Given the description of an element on the screen output the (x, y) to click on. 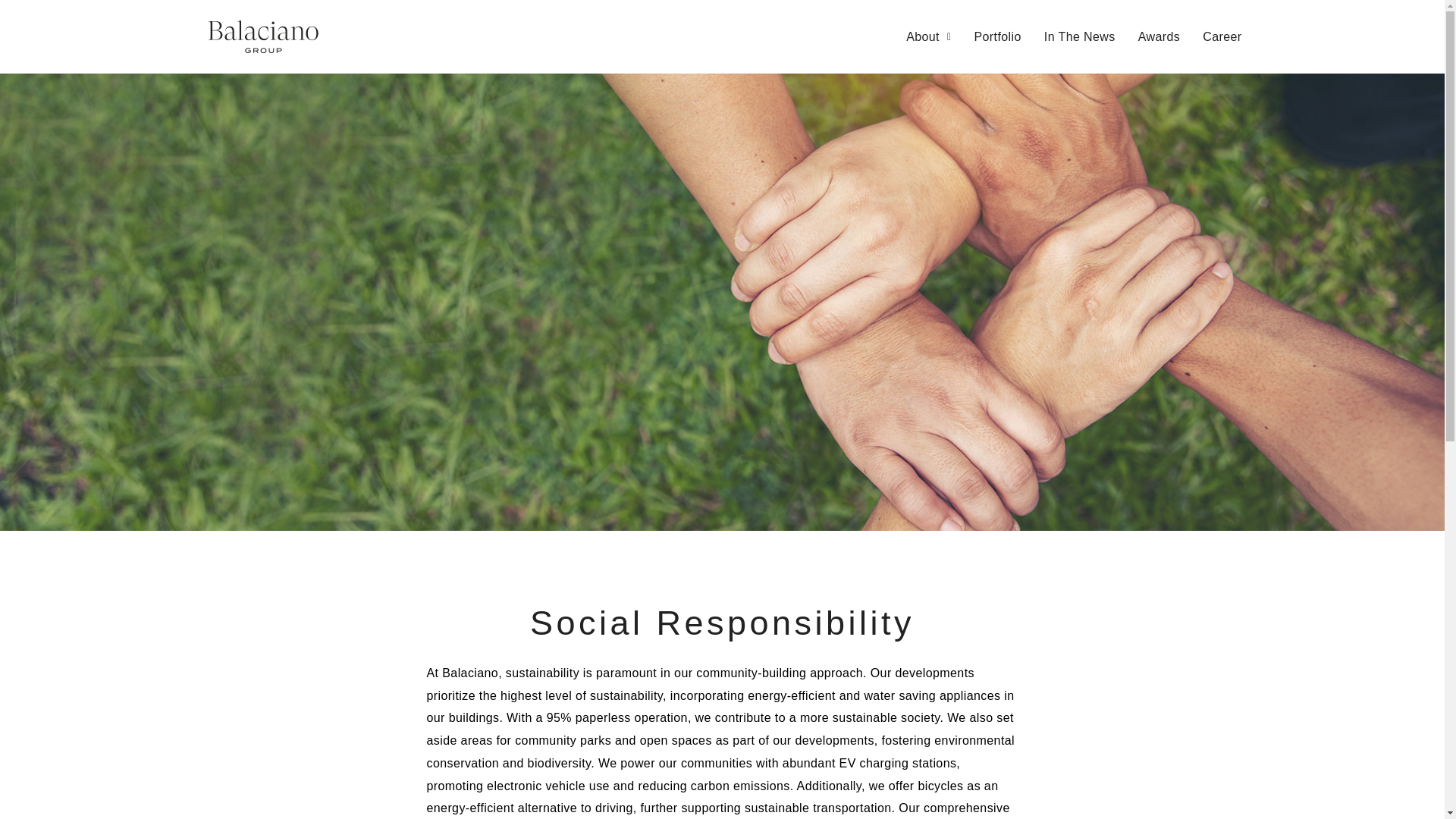
In The News (1079, 36)
Portfolio (997, 36)
Awards (1158, 36)
logo-balaciano-01 (262, 36)
Career (1221, 36)
About (928, 36)
